Given the description of an element on the screen output the (x, y) to click on. 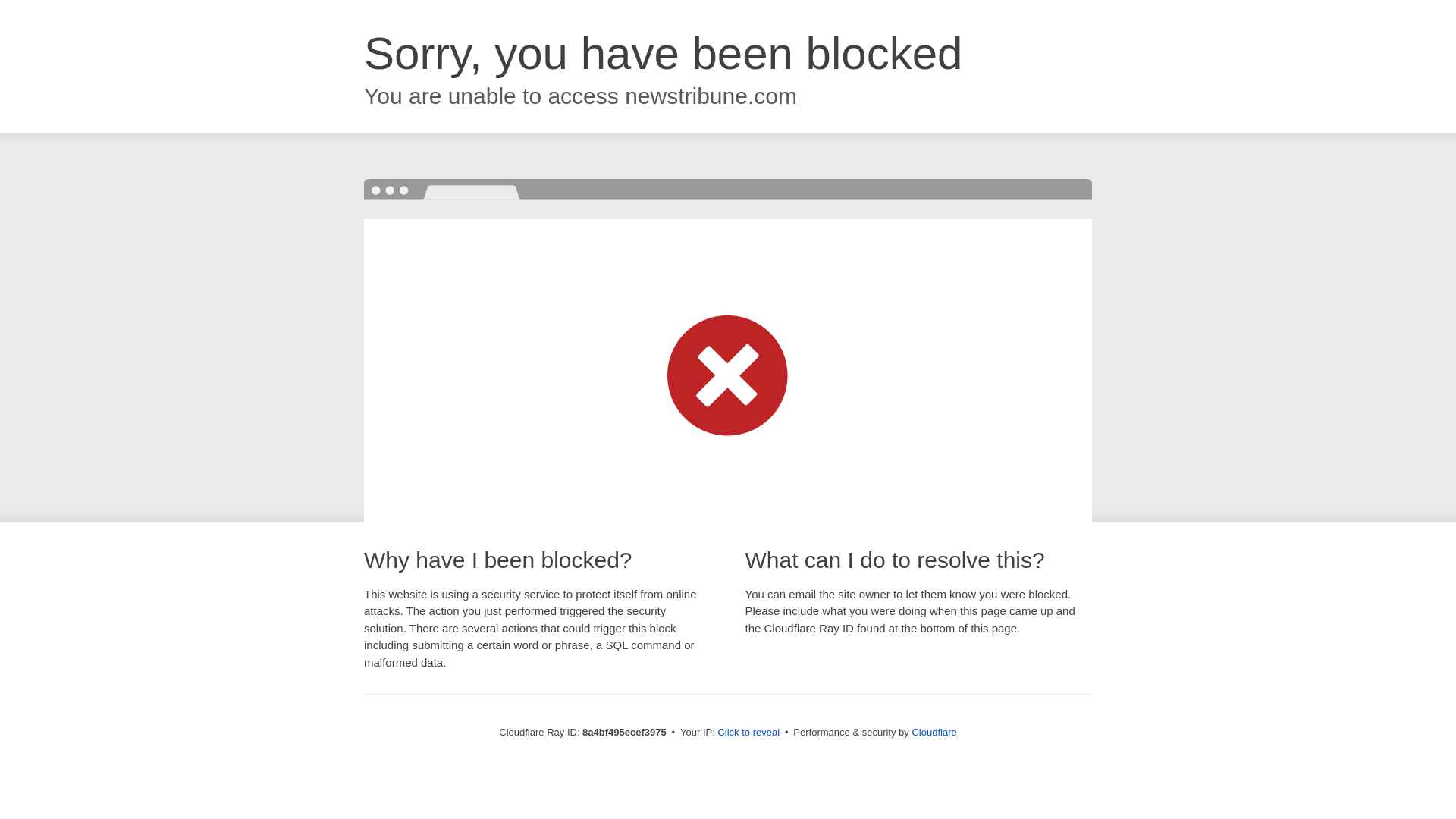
Cloudflare (933, 731)
Click to reveal (747, 732)
